Given the description of an element on the screen output the (x, y) to click on. 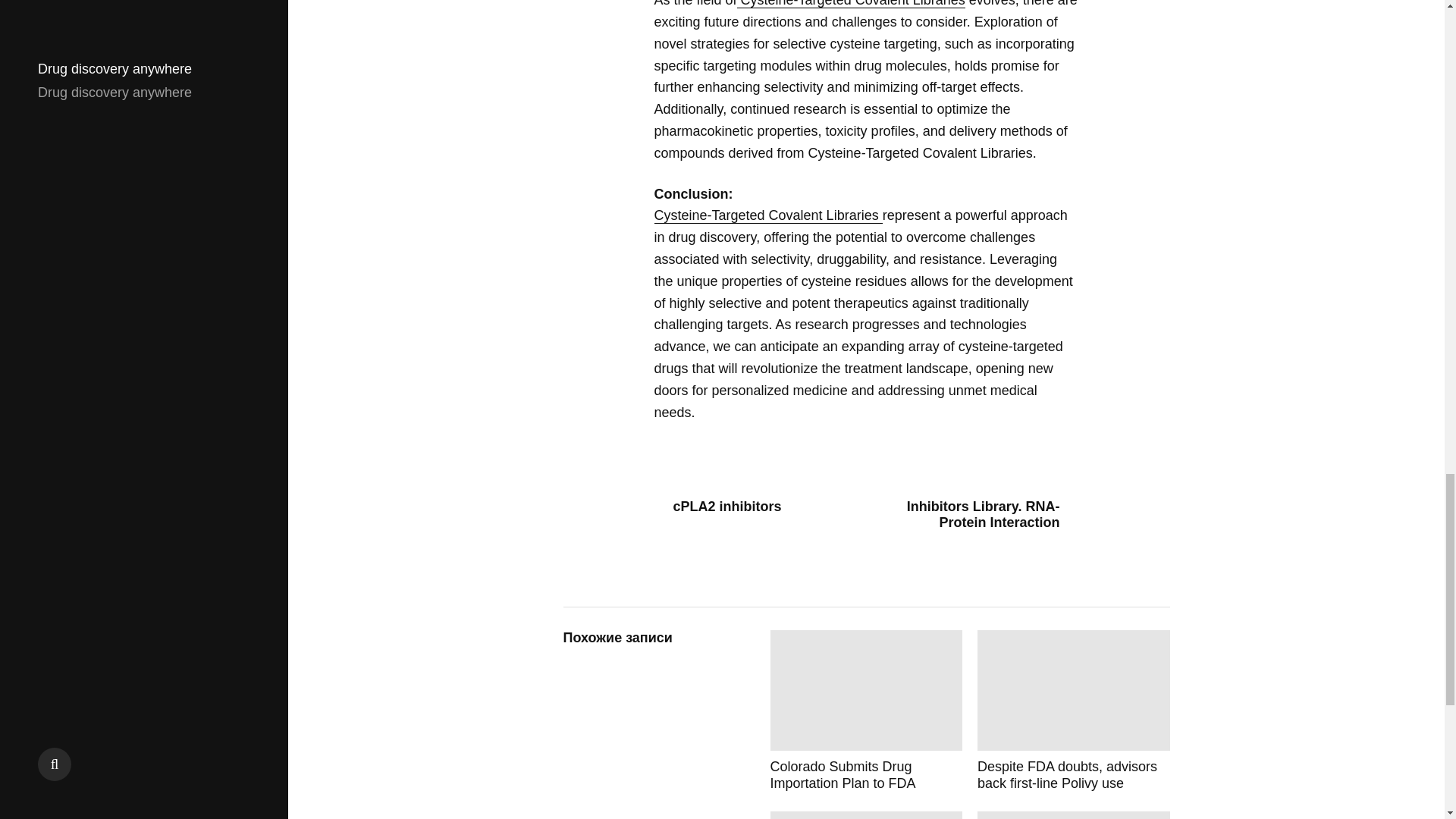
cPLA2 inhibitors (753, 506)
Invitrx Draws Warning Letter for Unapproved Products (1073, 815)
Despite FDA doubts, advisors back first-line Polivy use (1073, 710)
Colorado Submits Drug Importation Plan to FDA (866, 710)
Cysteine-Targeted Covalent Libraries (767, 215)
Cysteine-Targeted Covalent Libraries (850, 4)
Inhibitors Library. RNA-Protein Interaction (977, 514)
